Given the description of an element on the screen output the (x, y) to click on. 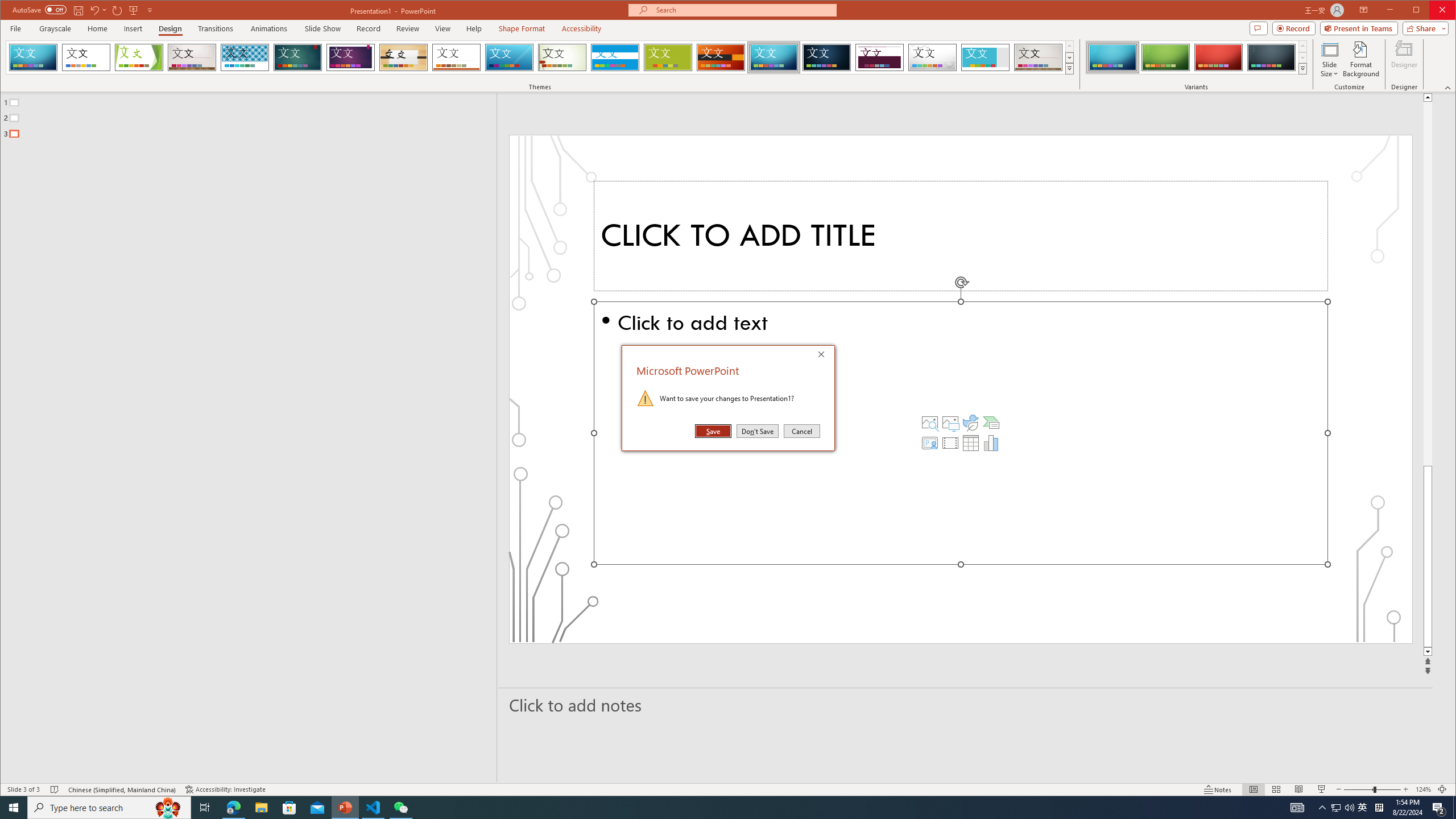
User Promoted Notification Area (1342, 807)
Accessibility Checker Accessibility: Investigate (1335, 807)
Berlin (225, 789)
Slice (720, 57)
Start (509, 57)
Microsoft Store (13, 807)
Title TextBox (289, 807)
Line up (960, 235)
